Given the description of an element on the screen output the (x, y) to click on. 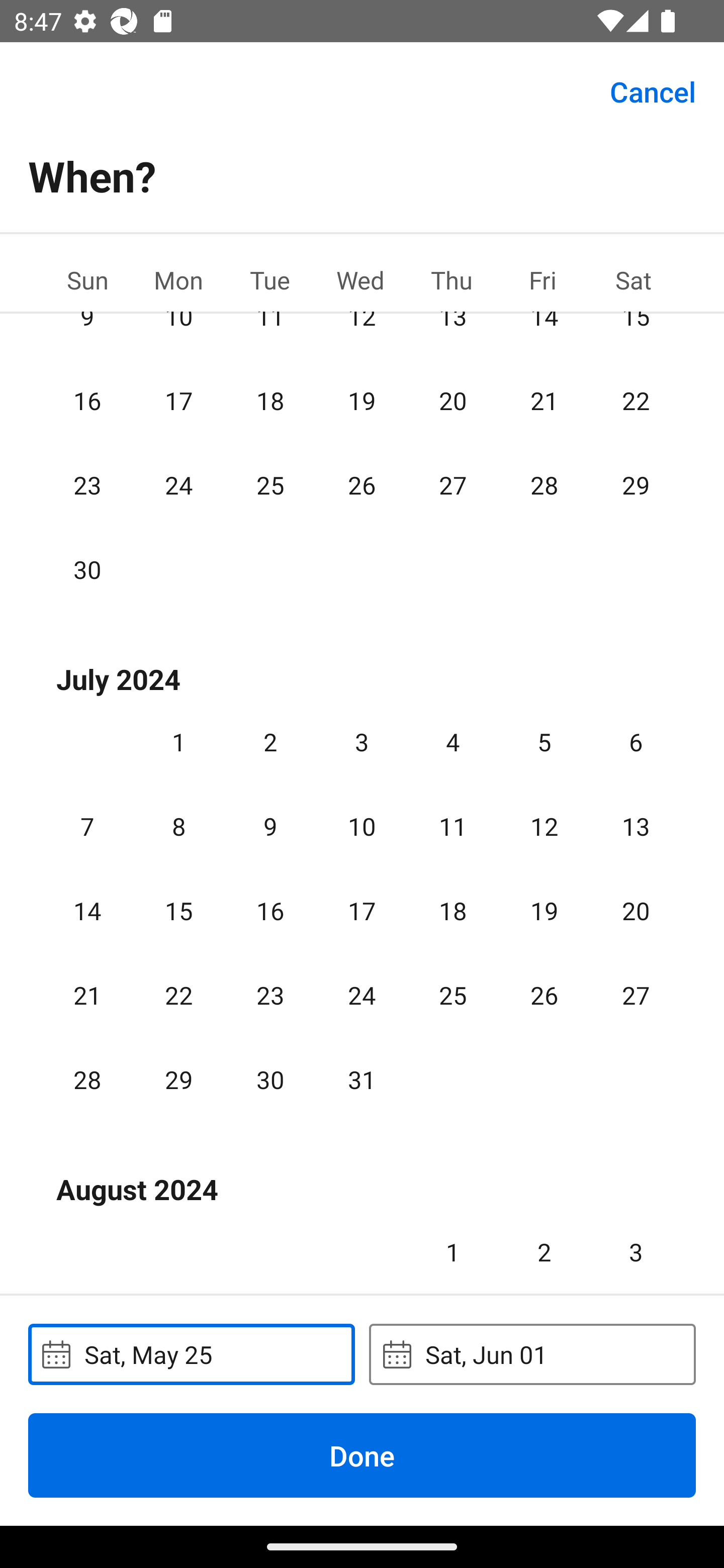
Cancel (652, 90)
Sat, May 25 (191, 1353)
Sat, Jun 01 (532, 1353)
Done (361, 1454)
